Given the description of an element on the screen output the (x, y) to click on. 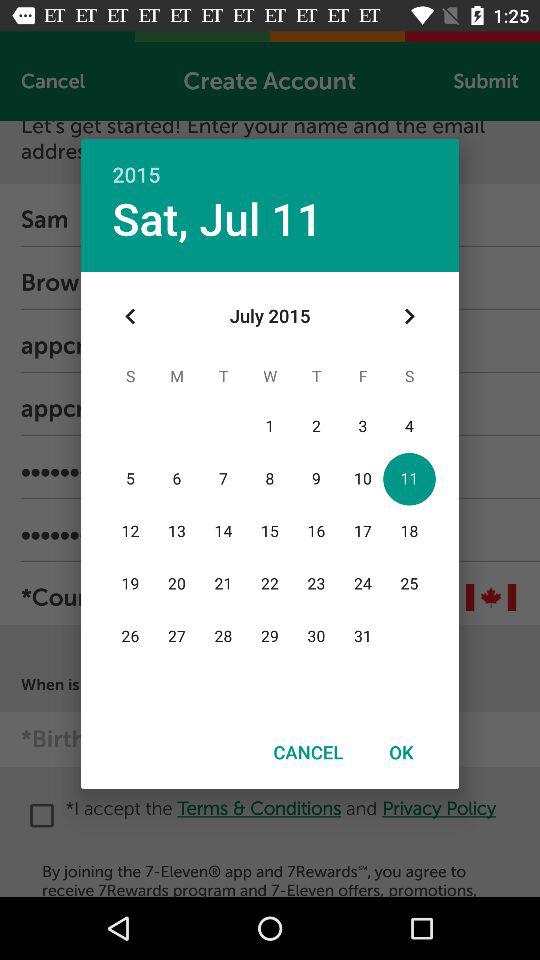
click the ok (401, 751)
